Given the description of an element on the screen output the (x, y) to click on. 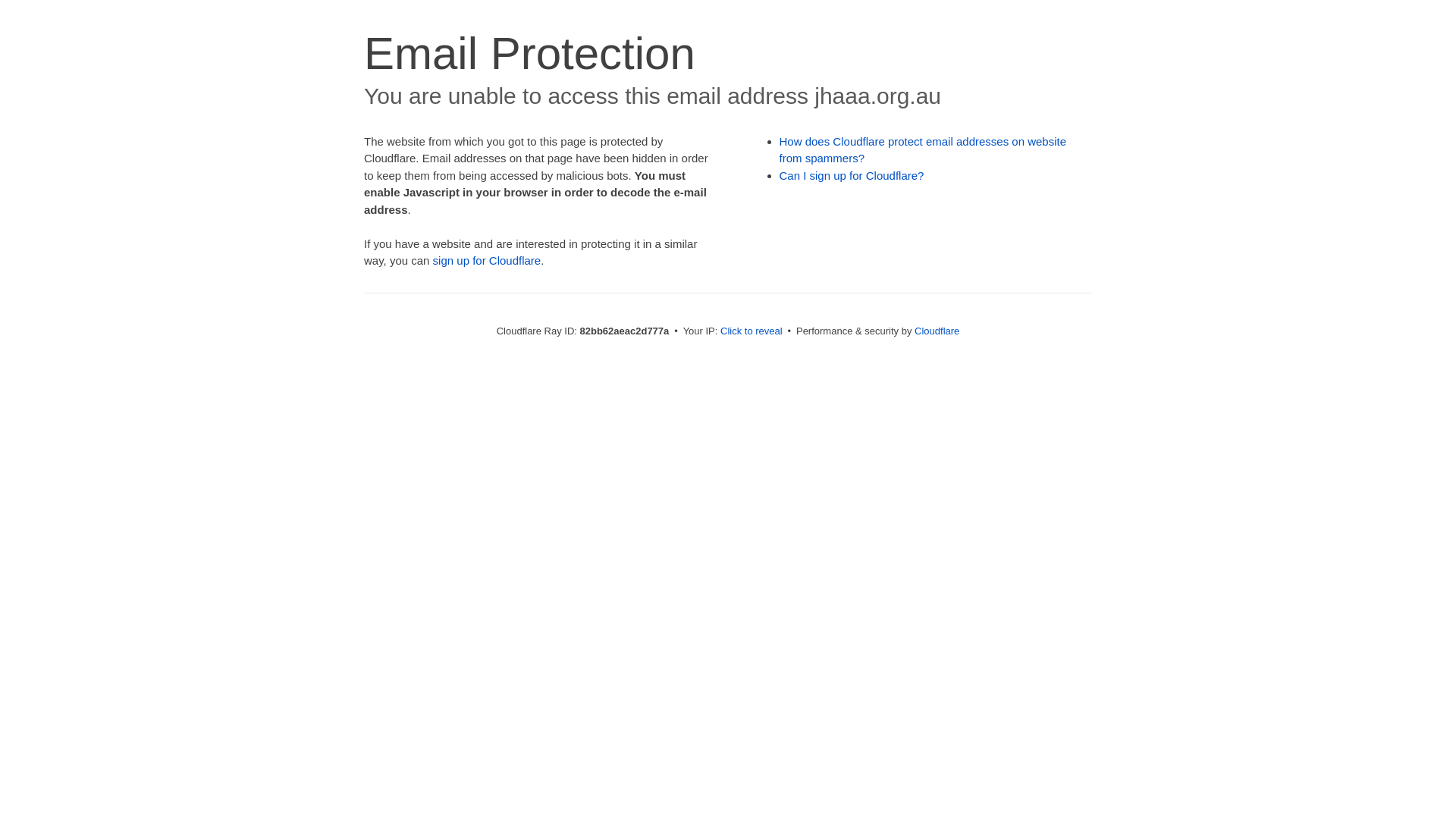
Click to reveal Element type: text (751, 330)
Cloudflare Element type: text (936, 330)
sign up for Cloudflare Element type: text (487, 260)
Can I sign up for Cloudflare? Element type: text (851, 175)
